Given the description of an element on the screen output the (x, y) to click on. 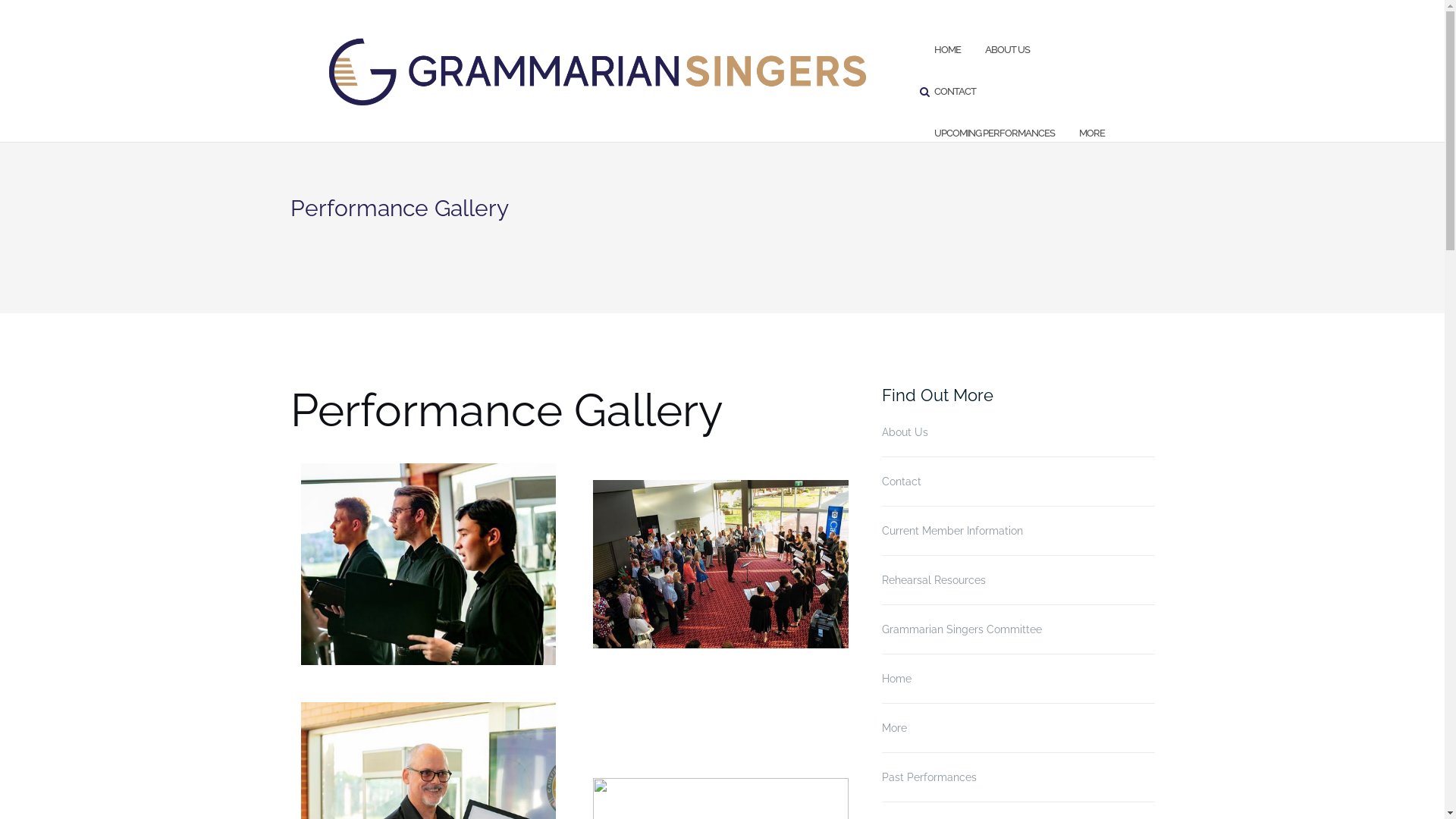
ABOUT US Element type: text (1007, 50)
Contact Element type: text (900, 481)
Rehearsal Resources Element type: text (933, 580)
UPCOMING PERFORMANCES Element type: text (994, 133)
Home Element type: text (895, 678)
More Element type: text (893, 727)
CONTACT Element type: text (954, 91)
MORE Element type: text (1091, 133)
Past Performances Element type: text (928, 777)
Grammarian Singers Committee Element type: text (961, 629)
HOME Element type: text (947, 50)
About Us Element type: text (904, 432)
Current Member Information Element type: text (951, 530)
